Given the description of an element on the screen output the (x, y) to click on. 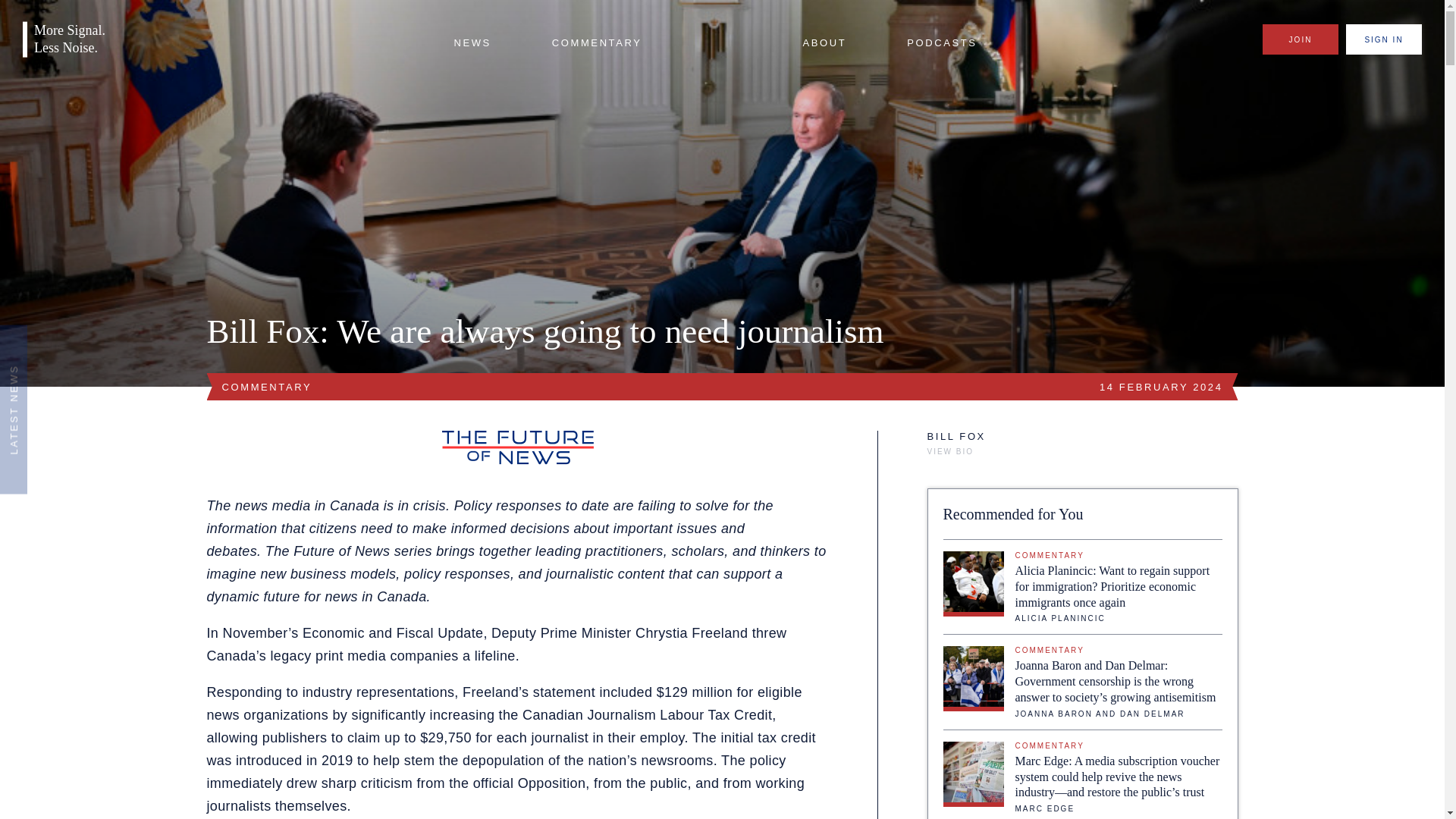
COMMENTARY (596, 43)
SIGN IN (1383, 39)
NEWS (471, 43)
JOIN (1300, 39)
ABOUT (823, 43)
PODCASTS (941, 43)
